Given the description of an element on the screen output the (x, y) to click on. 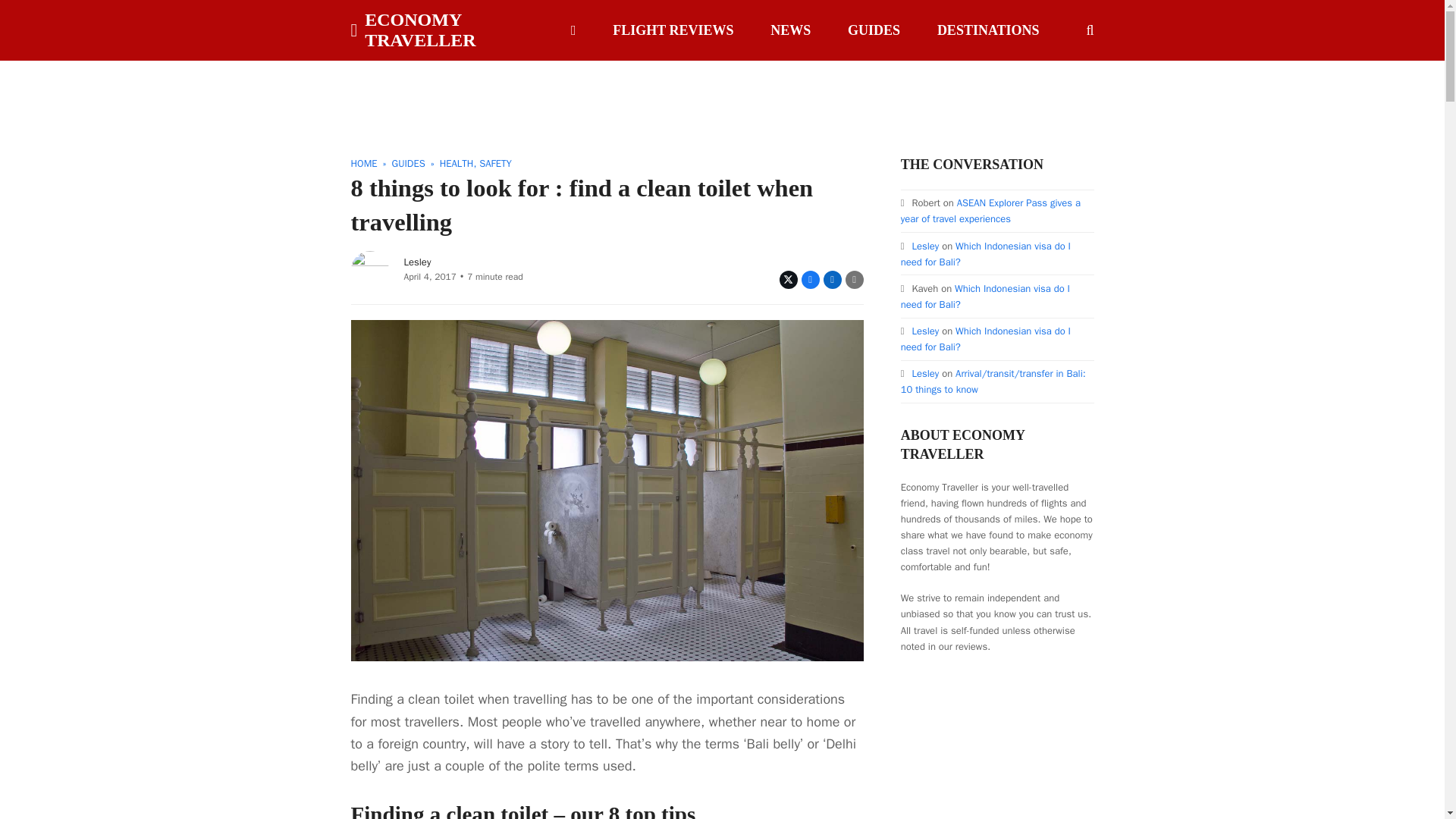
Share on Facebook (810, 280)
HEALTH (456, 163)
GUIDES (408, 163)
NEWS (790, 29)
Go to Author Page (369, 268)
FLIGHT REVIEWS (672, 29)
Lesley (416, 261)
Share on LinkedIn (832, 280)
ECONOMY TRAVELLER (444, 29)
SAFETY (495, 163)
DESTINATIONS (988, 29)
HOME (363, 163)
Share via Email (854, 280)
Post on X (787, 280)
GUIDES (873, 29)
